Given the description of an element on the screen output the (x, y) to click on. 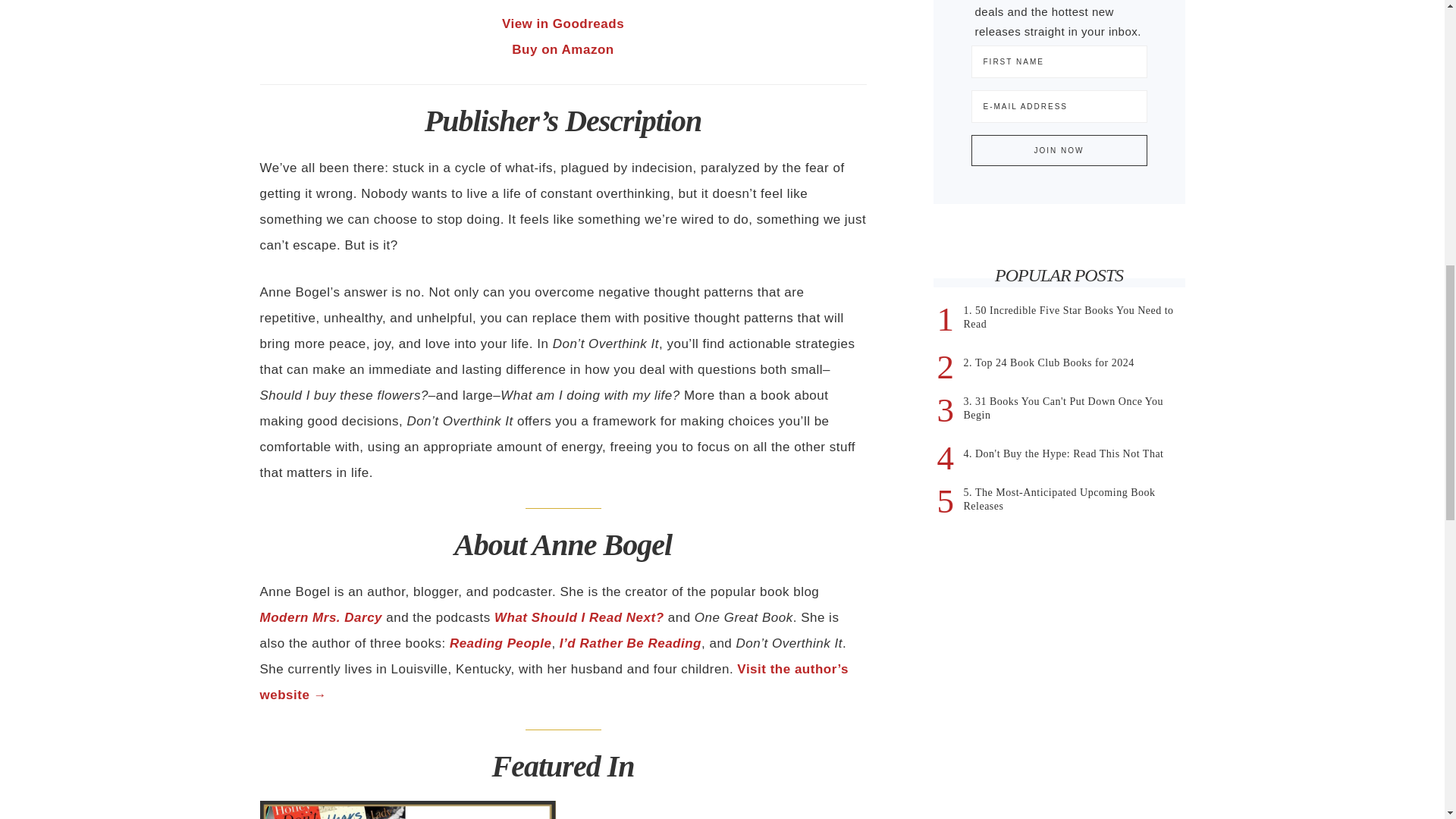
Modern Mrs. Darcy (320, 617)
Reading People (500, 643)
Join Now (1059, 150)
What Should I Read Next? (579, 617)
Buy on Amazon (562, 49)
View in Goodreads (563, 23)
